Given the description of an element on the screen output the (x, y) to click on. 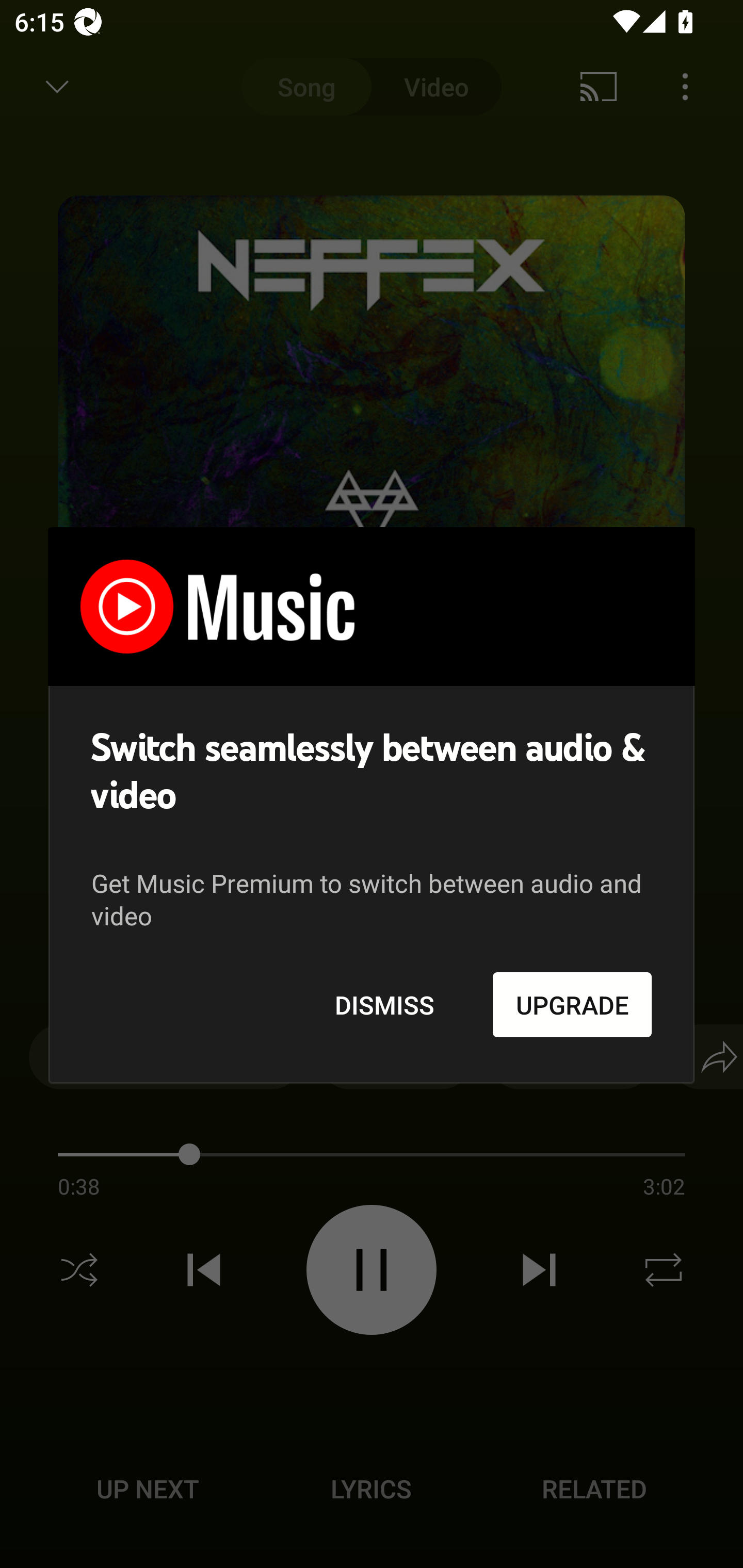
DISMISS Dismiss (384, 1004)
UPGRADE Upgrade (572, 1004)
